Given the description of an element on the screen output the (x, y) to click on. 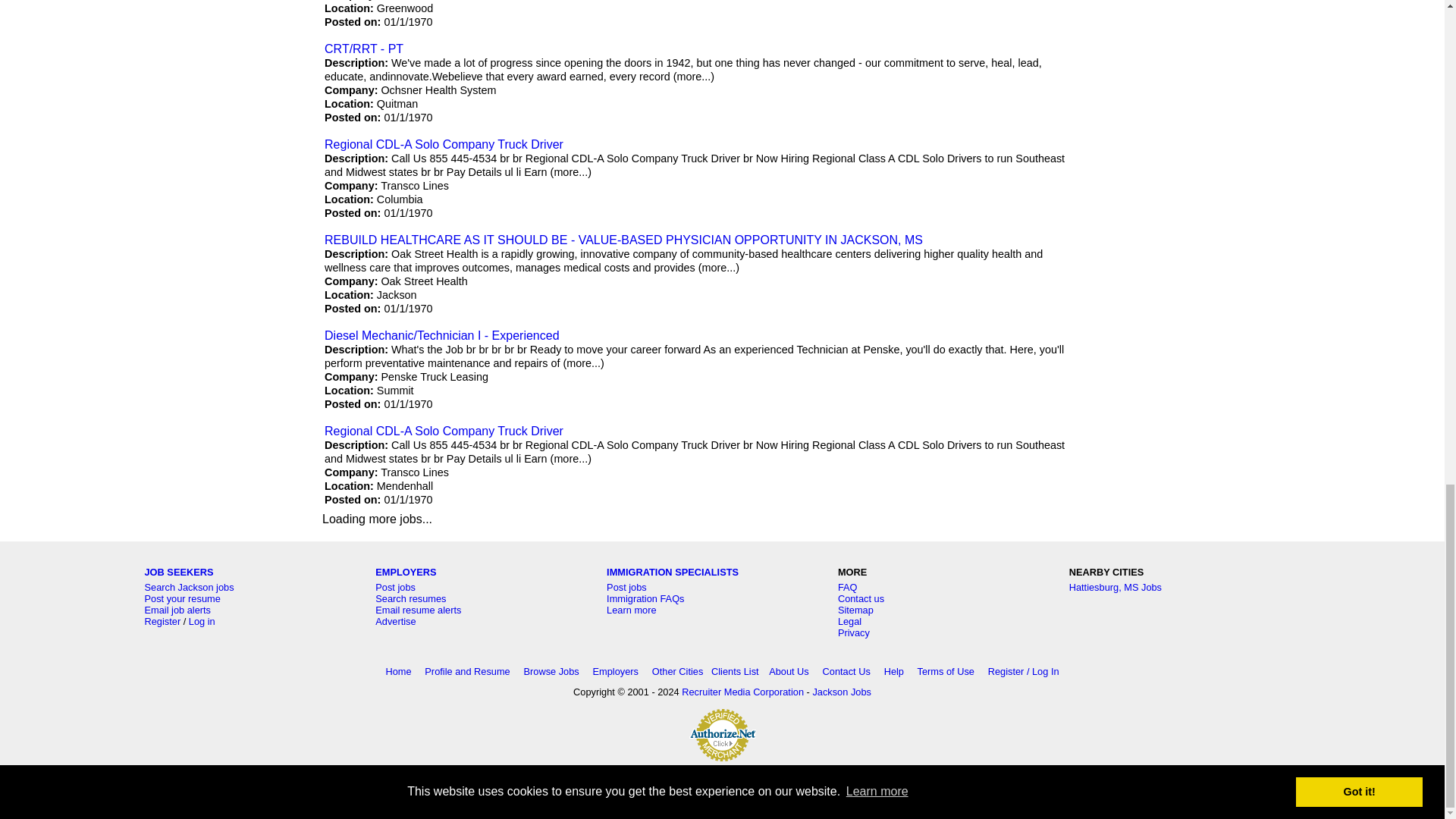
Regional CDL-A Solo Company Truck Driver (443, 144)
Regional CDL-A Solo Company Truck Driver (443, 431)
